Given the description of an element on the screen output the (x, y) to click on. 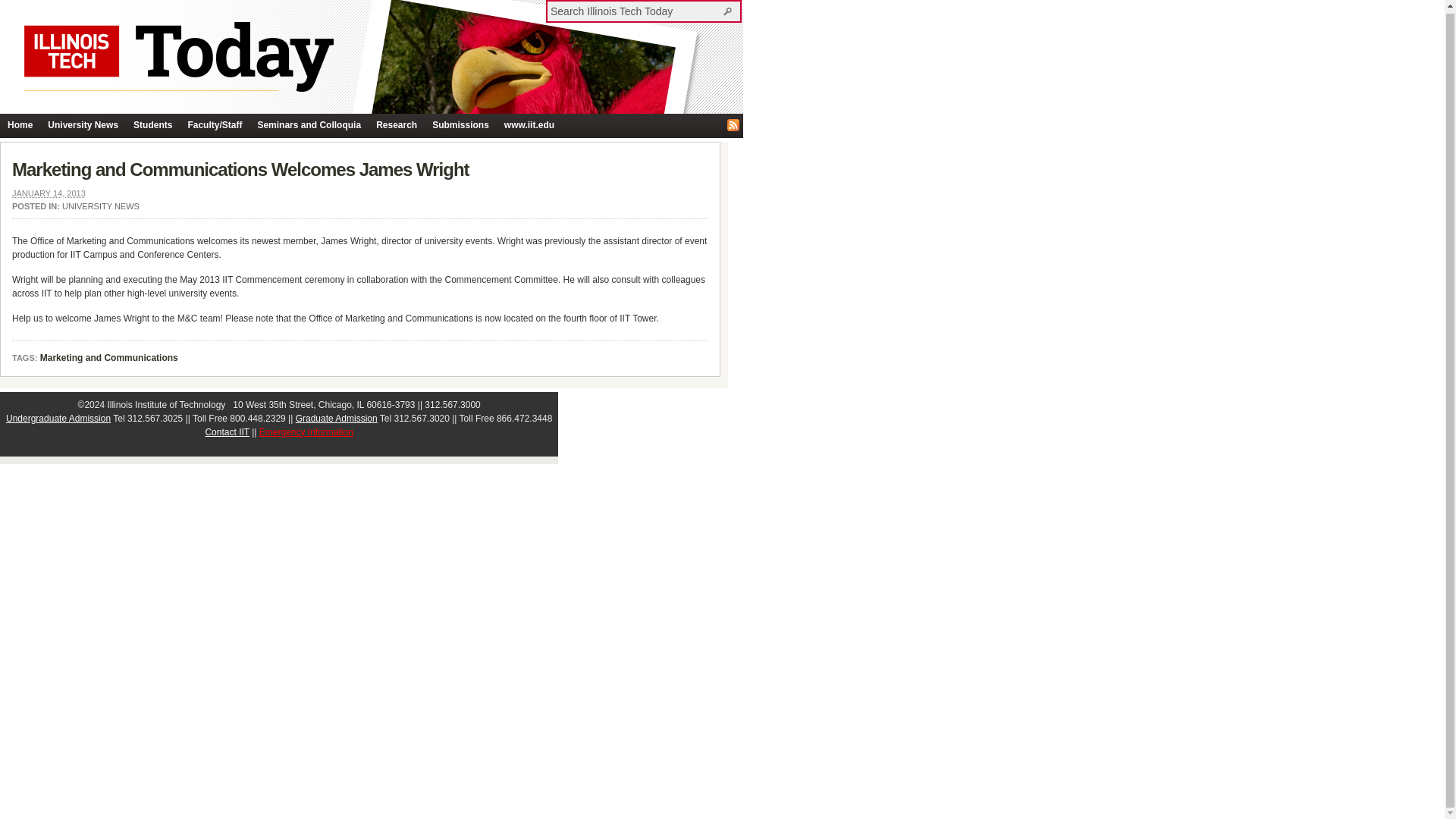
RSS Feed (732, 124)
Submissions (460, 125)
Graduate Admission (336, 418)
www.iit.edu (529, 125)
Seminars and Colloquia (308, 125)
University News (82, 125)
Marketing and Communications (108, 358)
UNIVERSITY NEWS (100, 205)
Search Illinois Tech Today (729, 10)
Search (729, 10)
